Given the description of an element on the screen output the (x, y) to click on. 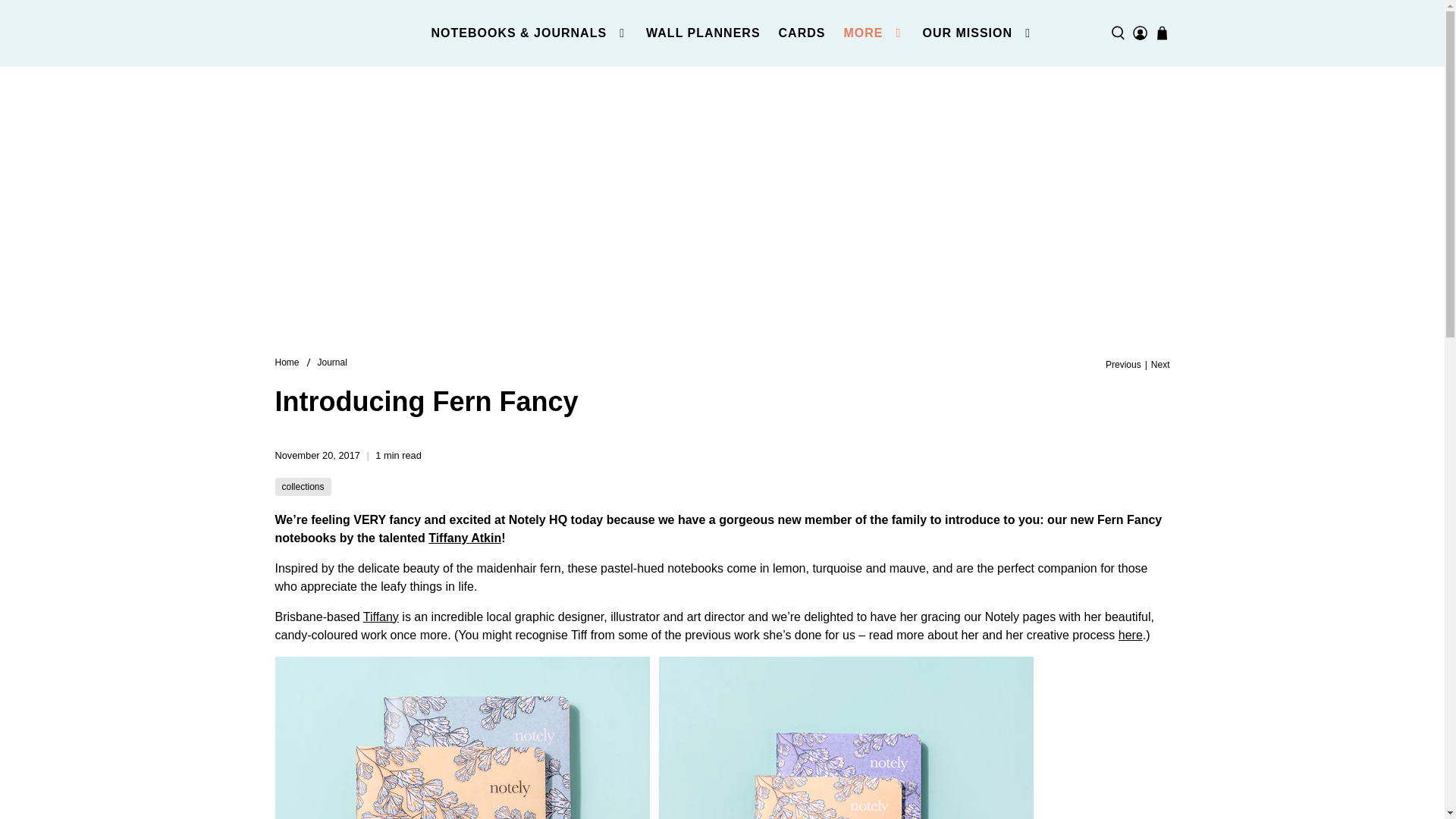
MORE (873, 33)
WALL PLANNERS (702, 33)
Notely (286, 361)
Notely (347, 33)
Journal tagged collections (303, 486)
Next (1160, 364)
OUR MISSION (977, 33)
Journal (332, 361)
Previous (1123, 364)
CARDS (802, 33)
